Given the description of an element on the screen output the (x, y) to click on. 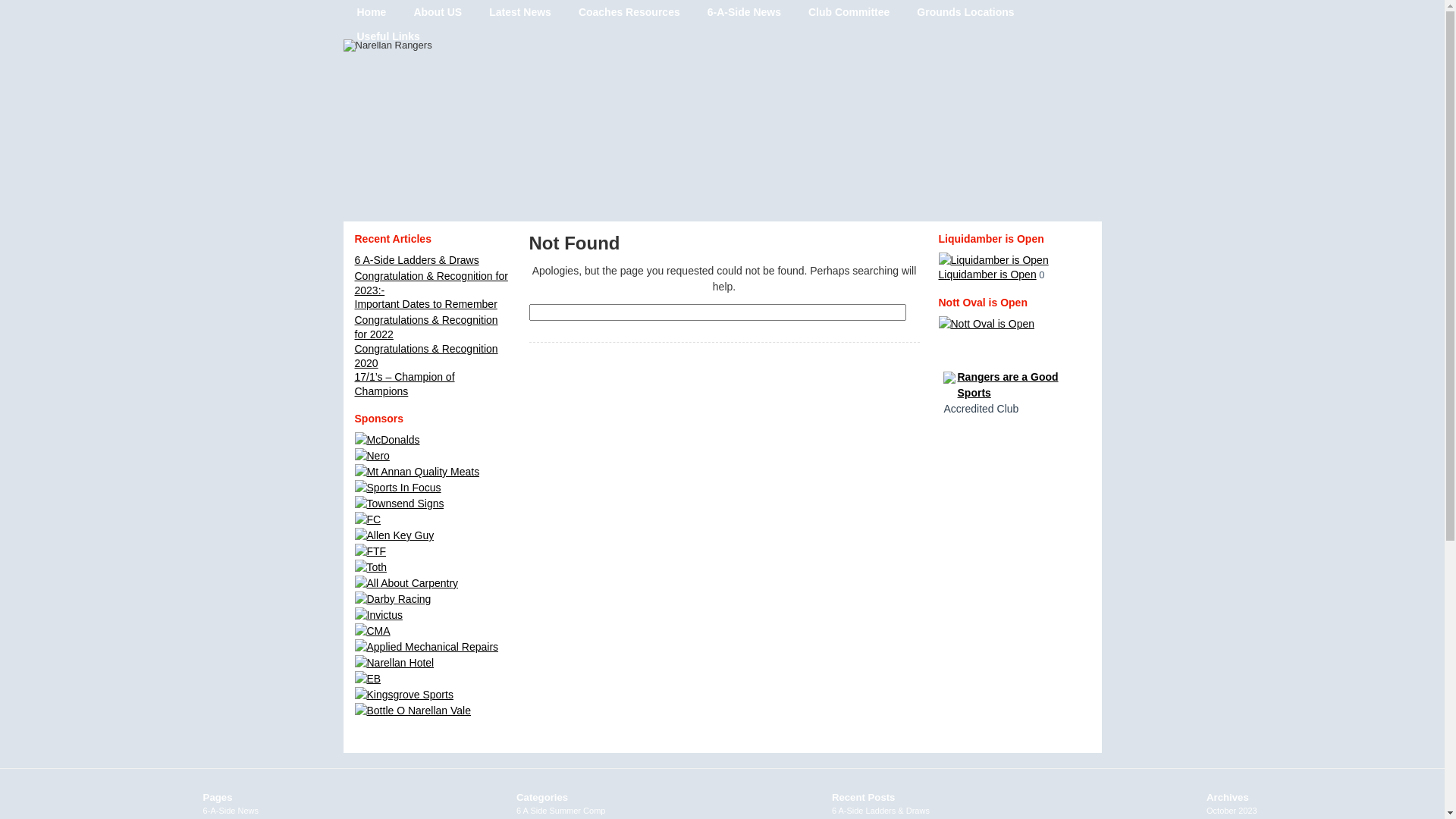
Useful Links Element type: text (387, 36)
Grounds Locations Element type: text (965, 12)
Club Committee Element type: text (848, 12)
Coaches Resources Element type: text (628, 12)
6-A-Side News Element type: text (743, 12)
Bottle O Narellan Vale Element type: hover (412, 710)
Allen Key Guy Element type: hover (394, 535)
About US Element type: text (437, 12)
Darby Racing Element type: hover (392, 599)
6-A-Side News Element type: text (230, 809)
Search Element type: text (554, 331)
Liquidamber is Open Element type: text (993, 267)
Darby Racing Element type: hover (392, 599)
6 A Side Summer Comp Element type: text (560, 809)
Congratulation & Recognition for 2023:- Element type: text (431, 282)
Narellan Hotel Element type: hover (394, 662)
Important Dates to Remember Element type: text (425, 304)
Narellan Hotel Element type: hover (394, 663)
Rangers are a Good Sports Element type: text (1007, 409)
October 2023 Element type: text (1231, 809)
Home Element type: text (370, 12)
6 A-Side Ladders & Draws Element type: text (880, 809)
Latest News Element type: text (519, 12)
6 A-Side Ladders & Draws Element type: text (416, 260)
Congratulations & Recognition for 2022 Element type: text (426, 326)
Allen Key Guy Element type: hover (394, 535)
Bottle O Narellan Vale Element type: hover (412, 710)
Congratulations & Recognition 2020 Element type: text (426, 355)
